Given the description of an element on the screen output the (x, y) to click on. 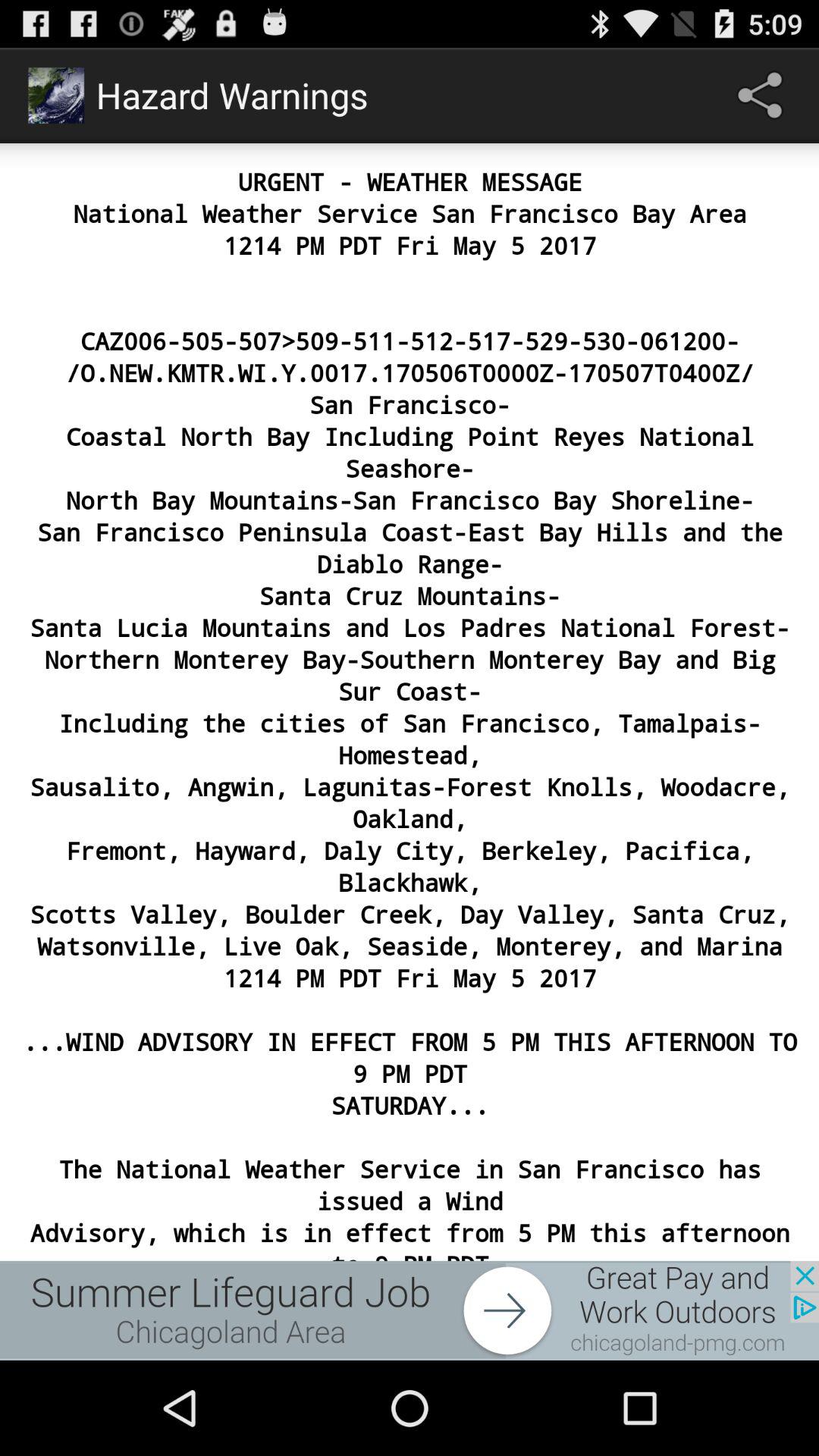
advertisement (409, 1310)
